Given the description of an element on the screen output the (x, y) to click on. 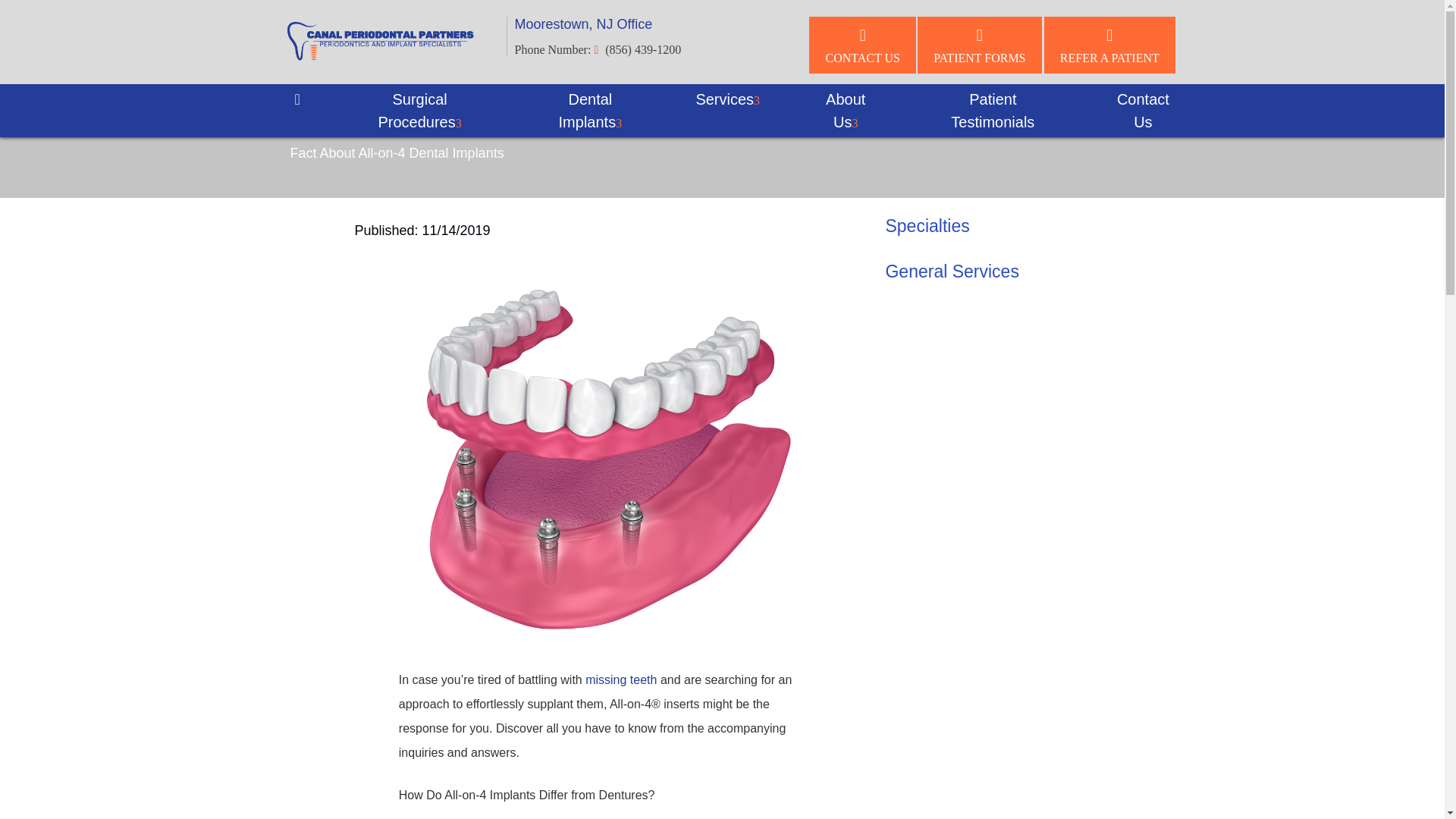
Dental Implants (589, 110)
Surgical Procedures (419, 110)
Contact Us (1142, 110)
About Us (844, 110)
Services (727, 99)
CONTACT US (862, 44)
missing teeth (620, 679)
Patient Testimonials (992, 110)
REFER A PATIENT (1108, 44)
PATIENT FORMS (979, 44)
